Given the description of an element on the screen output the (x, y) to click on. 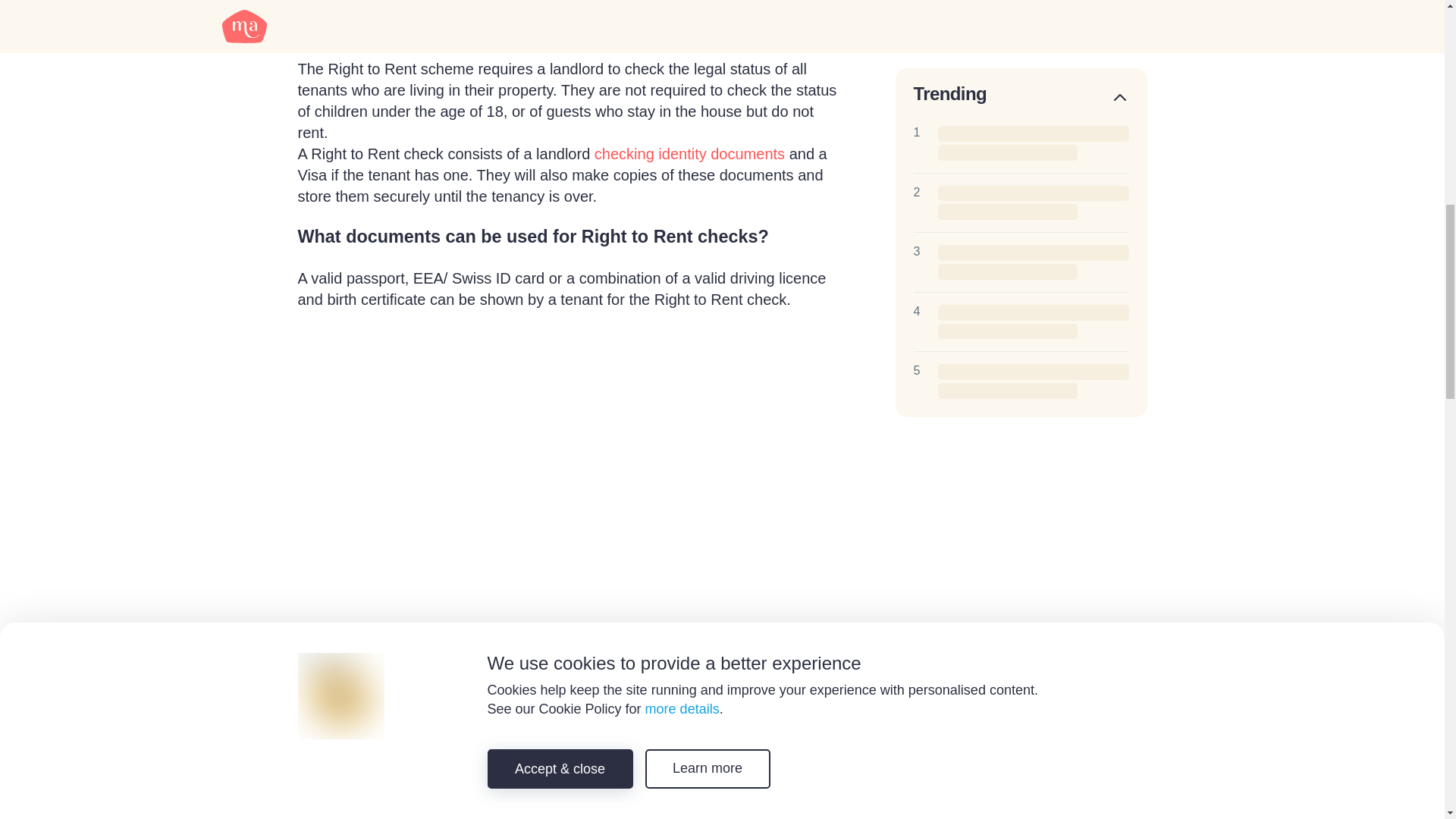
checking identity documents (689, 153)
signing a tenancy agreement (520, 817)
